Given the description of an element on the screen output the (x, y) to click on. 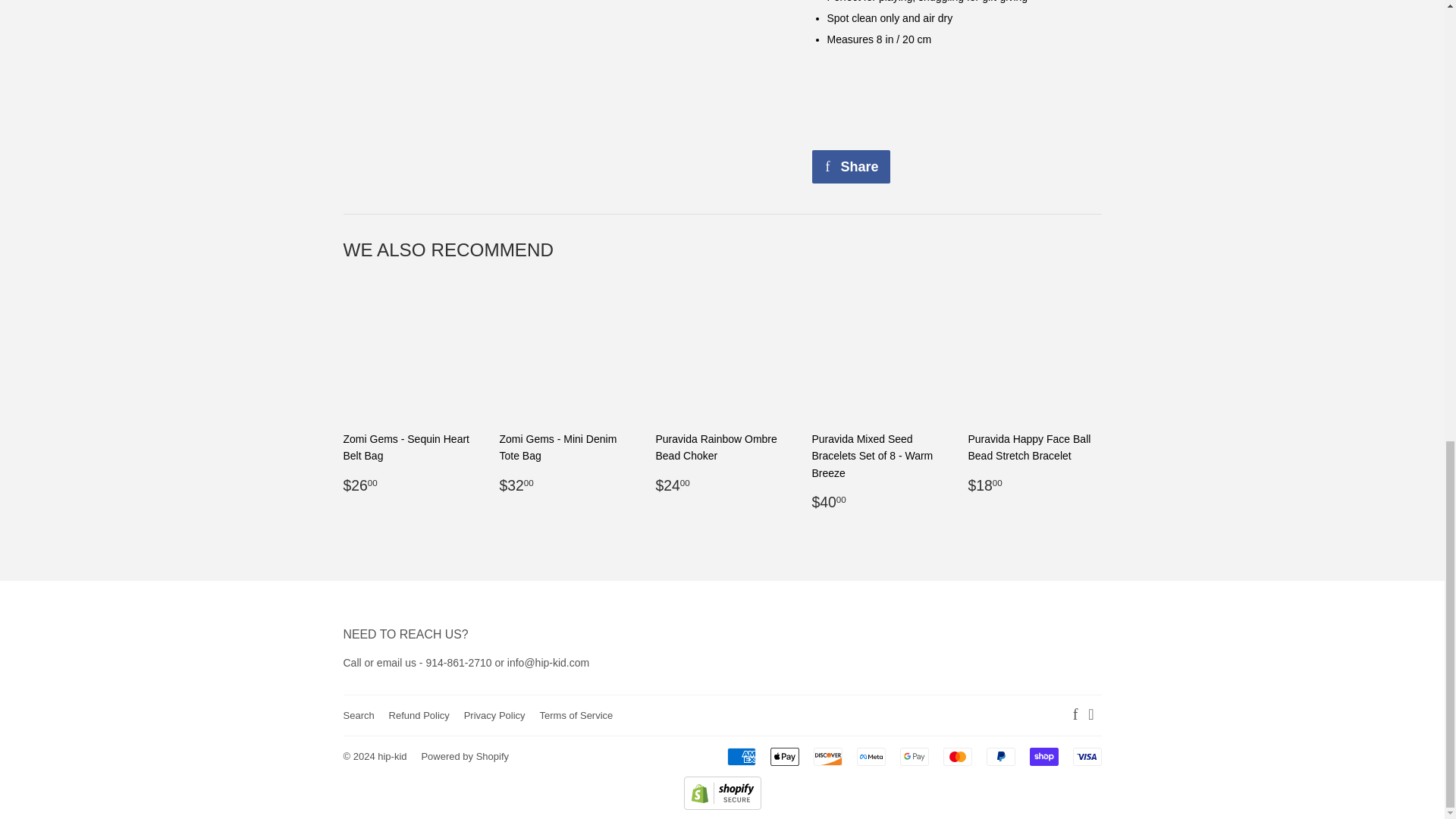
Shop Pay (1043, 756)
American Express (740, 756)
Apple Pay (784, 756)
PayPal (1000, 756)
Discover (828, 756)
Mastercard (957, 756)
This online store is secured by Shopify (722, 806)
Share on Facebook (849, 166)
Google Pay (913, 756)
Meta Pay (871, 756)
